Given the description of an element on the screen output the (x, y) to click on. 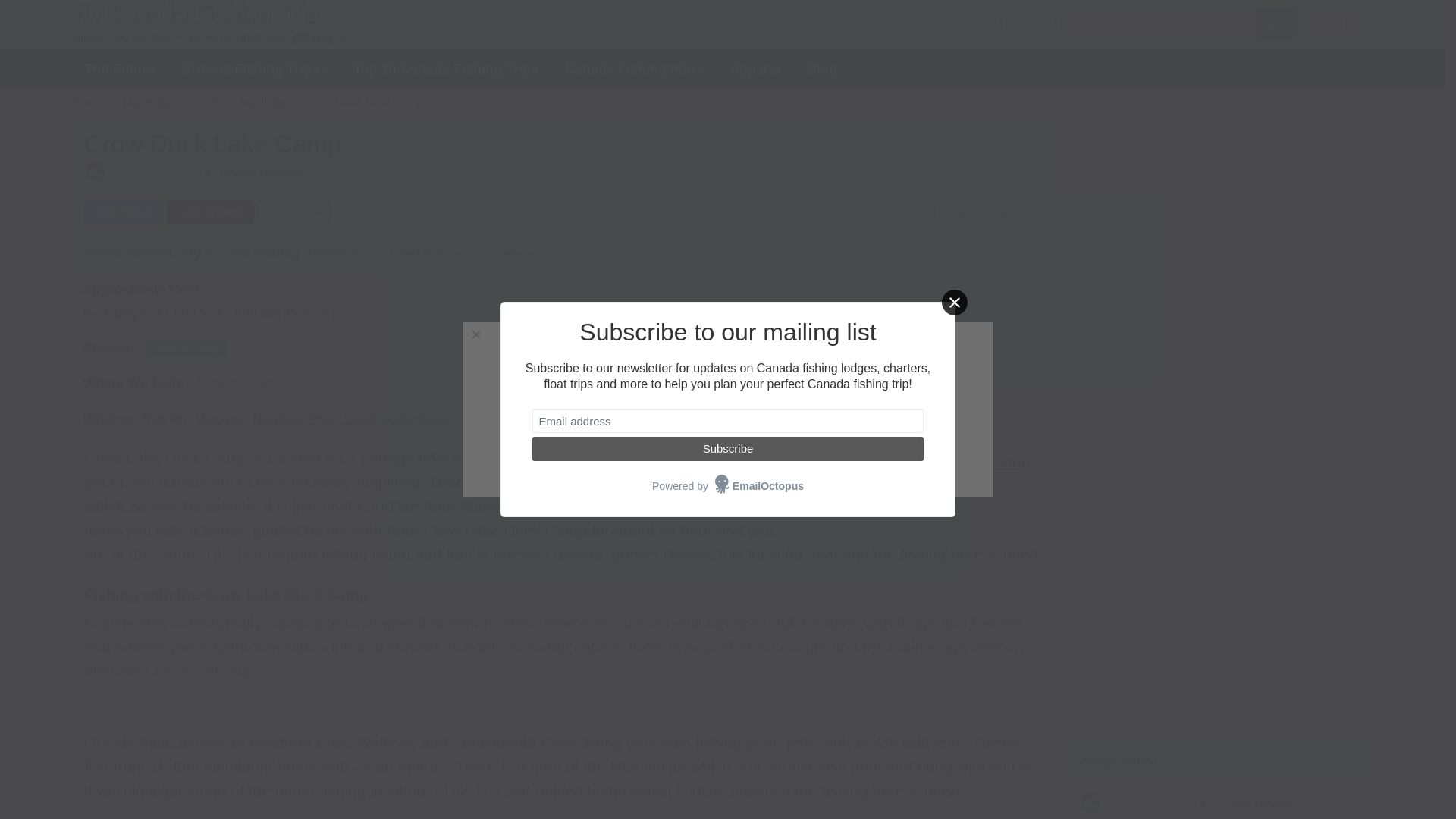
4.7 out of 5 stars (157, 169)
4.7 out of 5 stars (1152, 800)
Subscribe (727, 448)
